Given the description of an element on the screen output the (x, y) to click on. 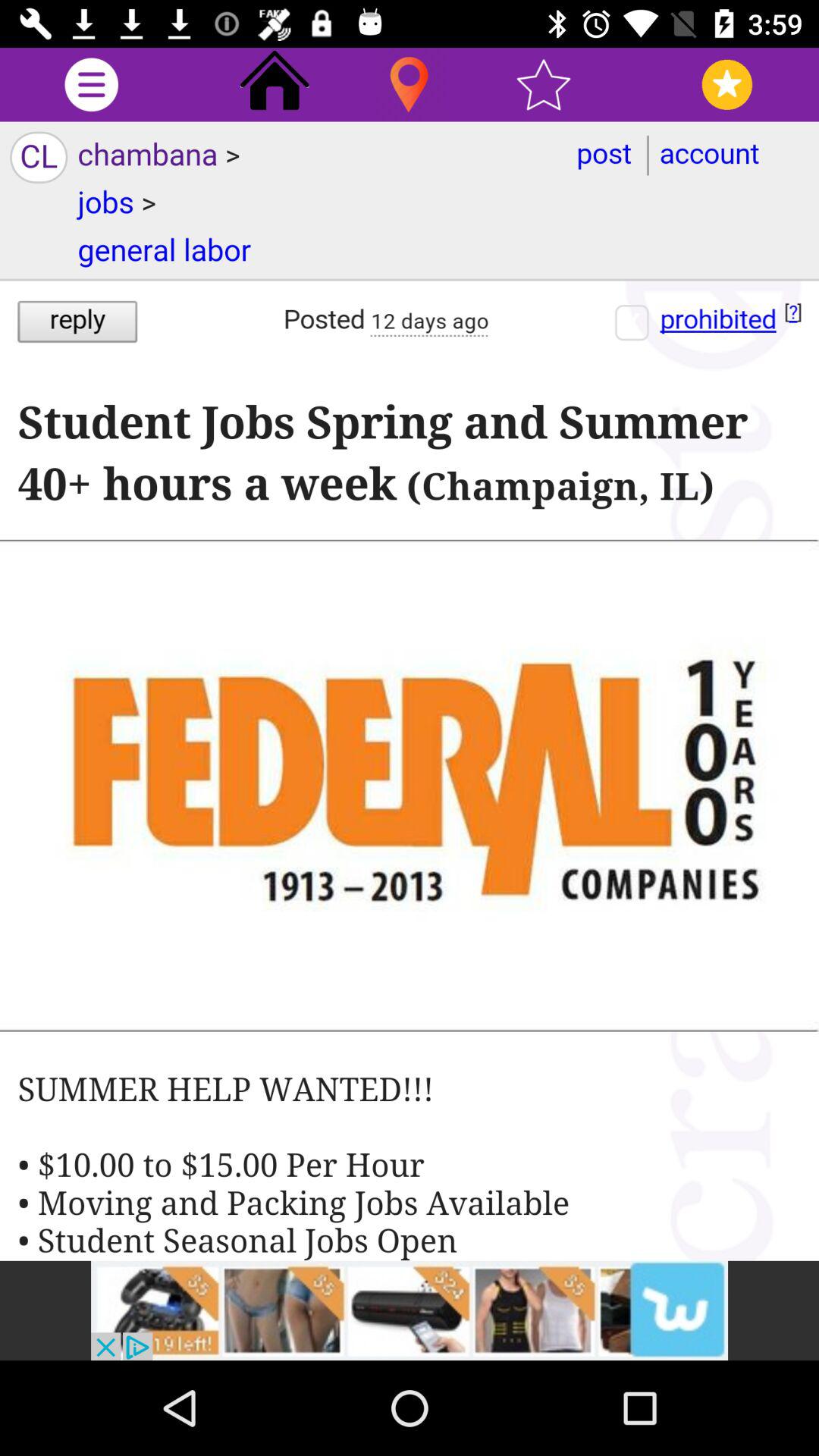
star button (543, 84)
